Given the description of an element on the screen output the (x, y) to click on. 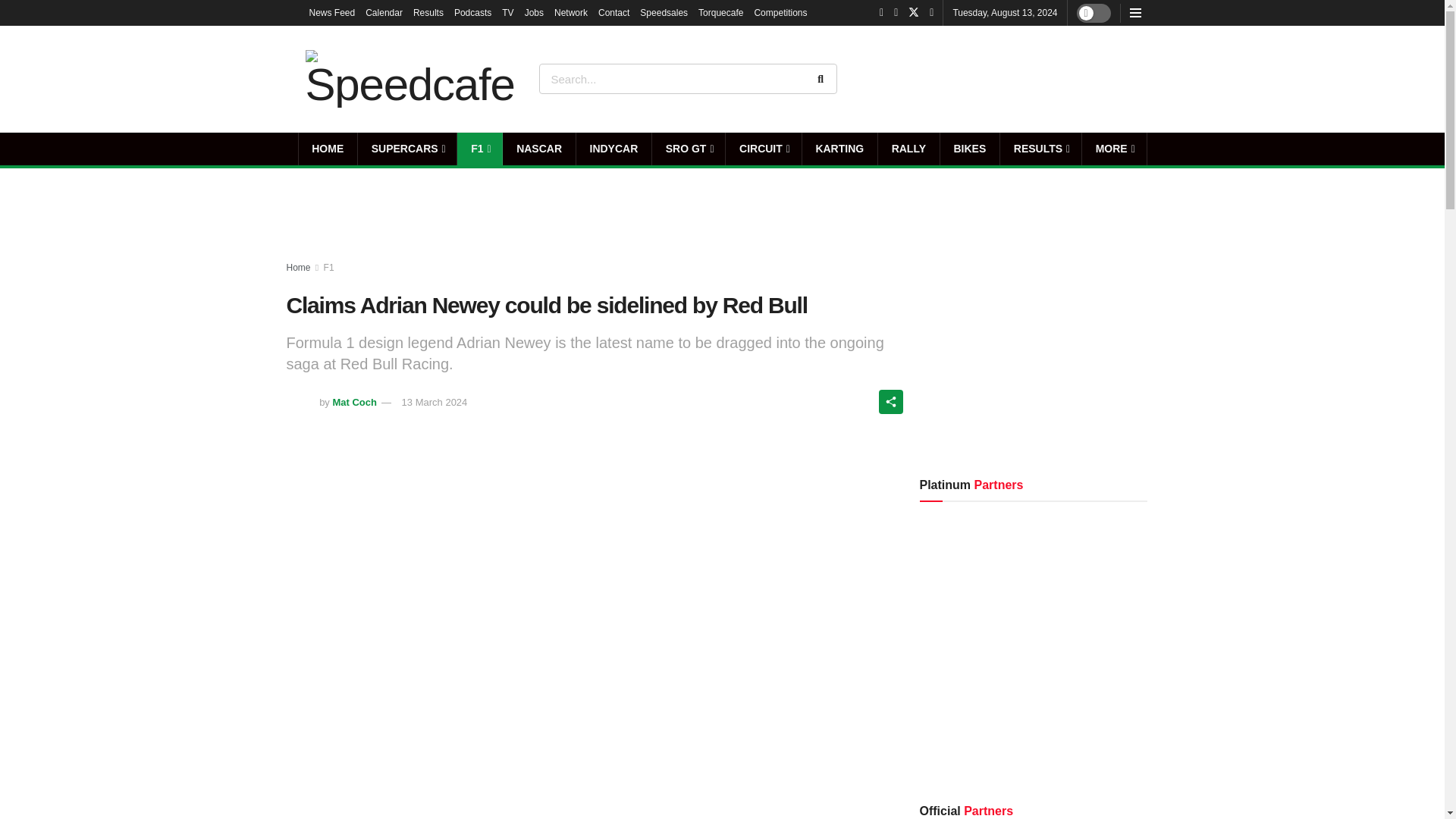
News Feed (331, 12)
HOME (327, 148)
Competitions (780, 12)
Contact (613, 12)
F1 (479, 148)
Network (571, 12)
Calendar (384, 12)
Torquecafe (720, 12)
Results (428, 12)
Speedsales (663, 12)
